Given the description of an element on the screen output the (x, y) to click on. 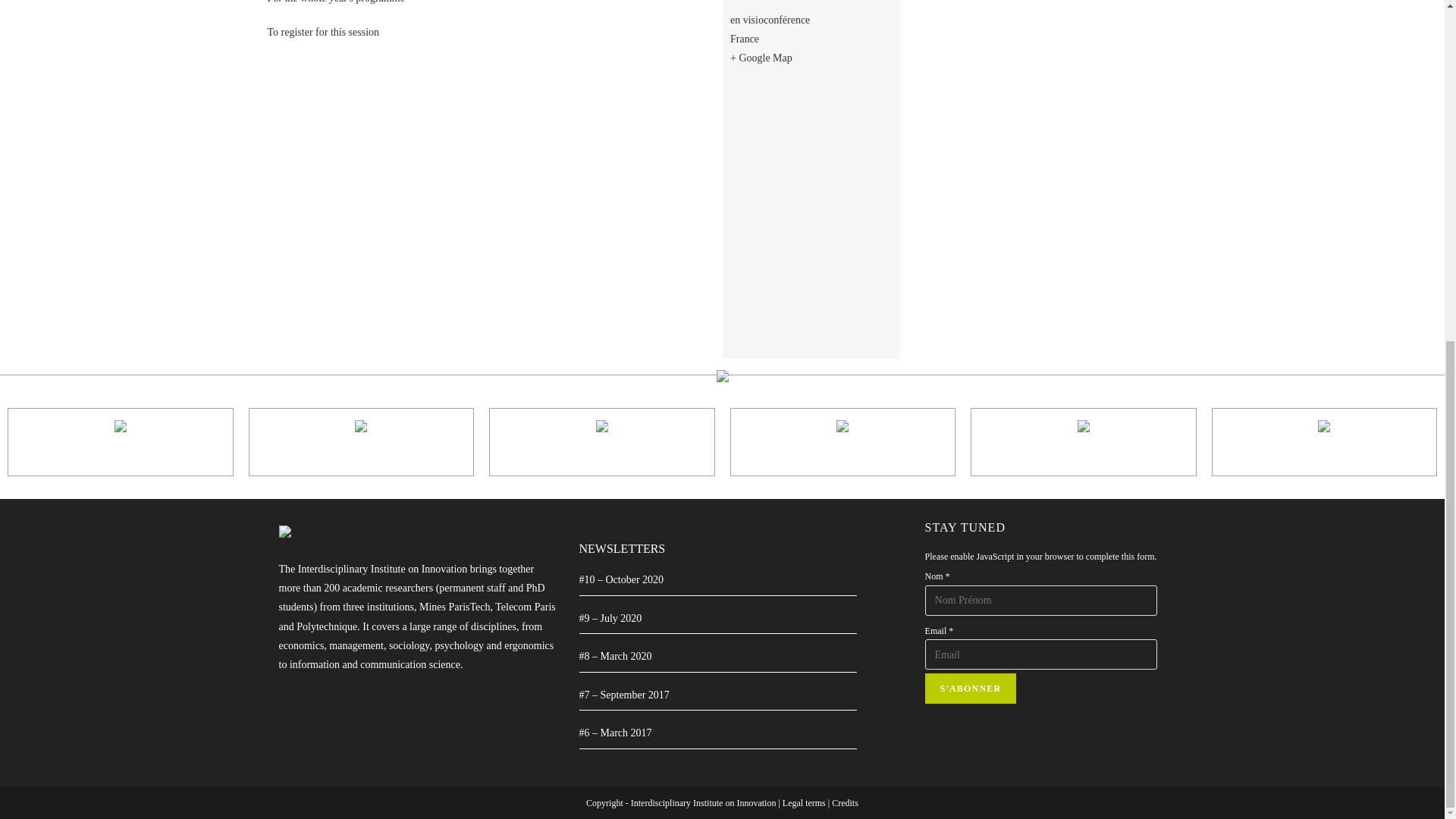
Click to view a Google Map (761, 67)
Credits (845, 802)
To register for this session (322, 31)
S'ABONNER (970, 688)
For the whole year's programme (335, 2)
Legal terms (804, 802)
